Given the description of an element on the screen output the (x, y) to click on. 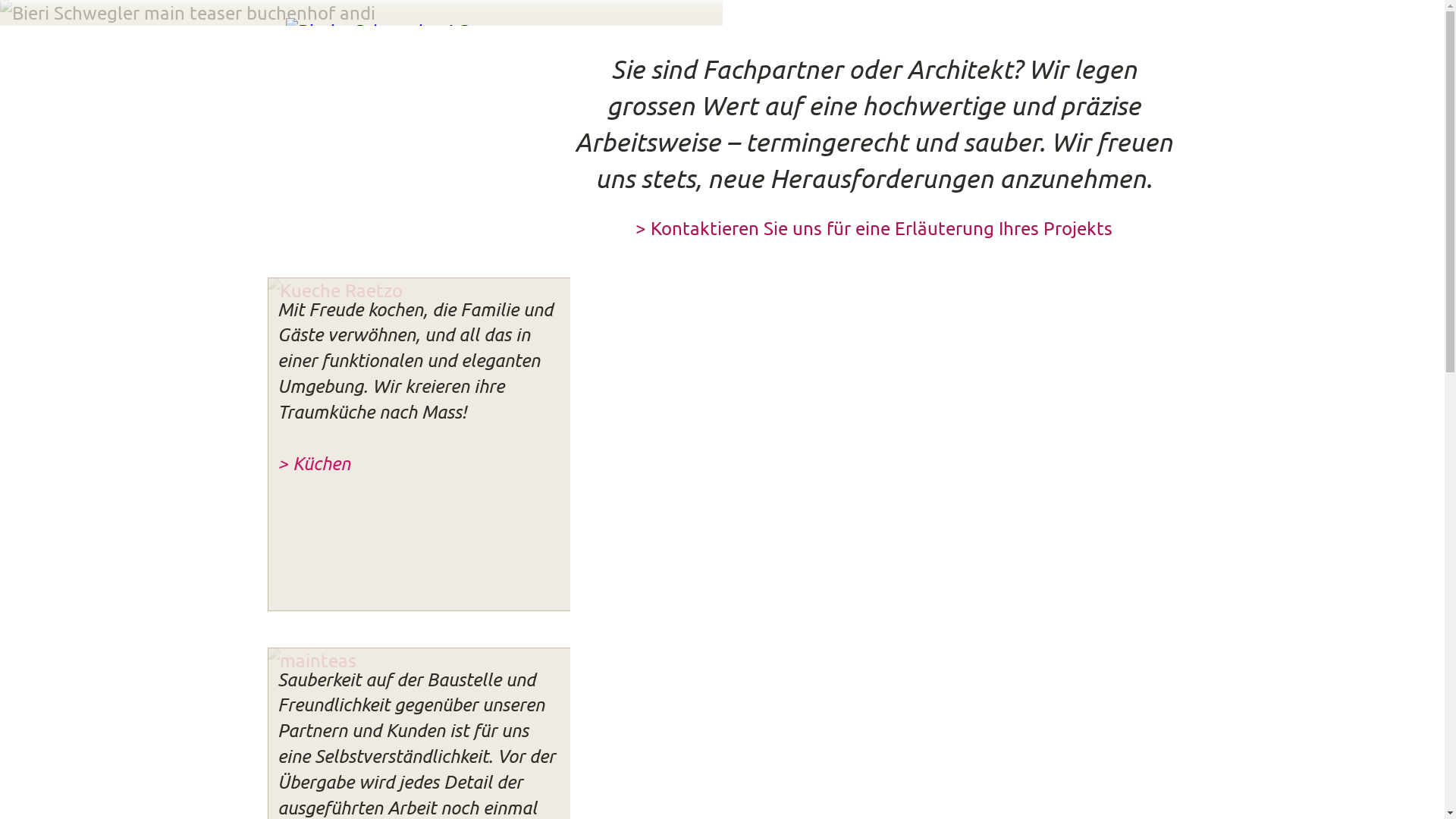
YouTube video player Element type: hover (418, 136)
